Given the description of an element on the screen output the (x, y) to click on. 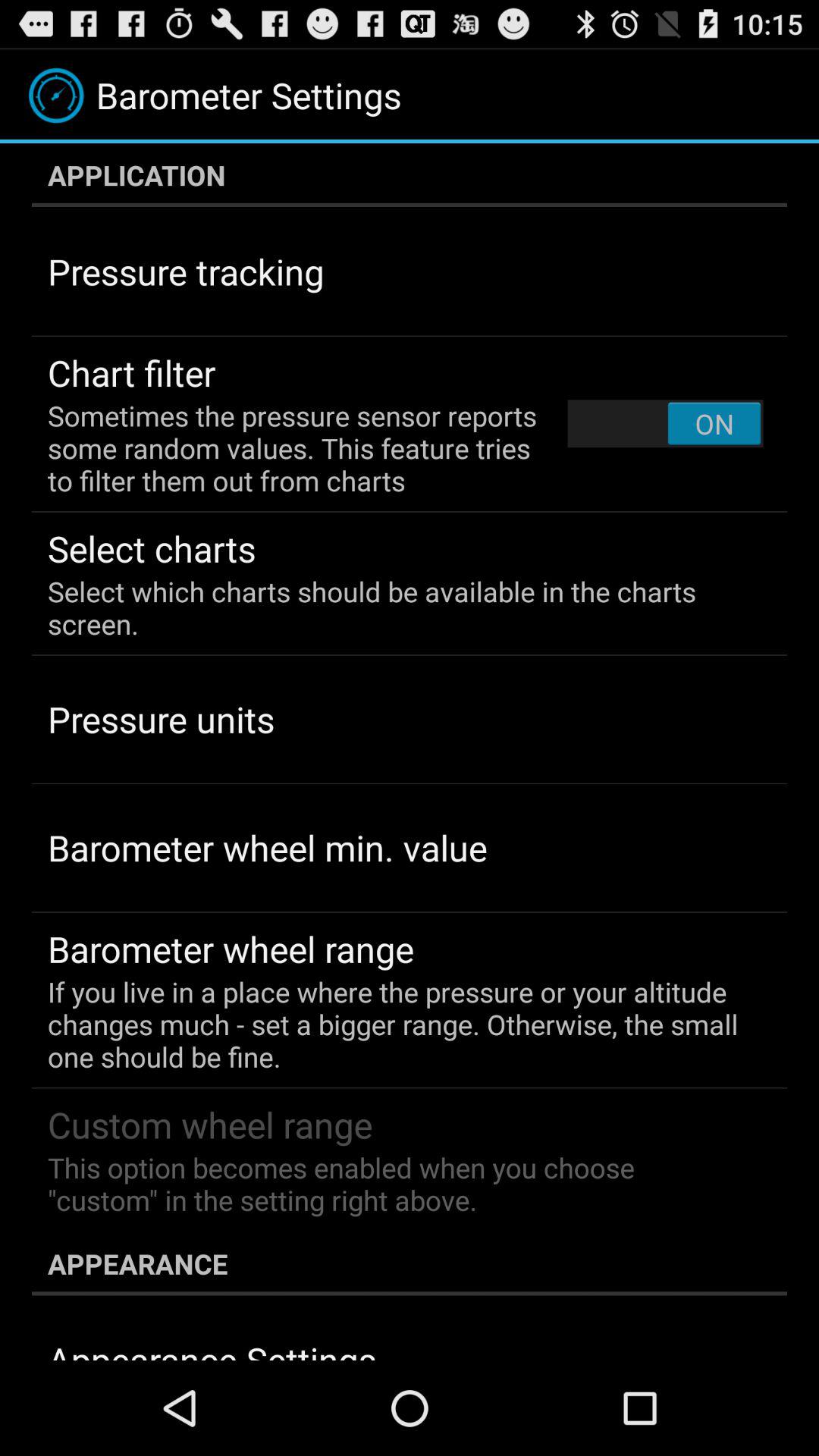
click the item at the top right corner (665, 423)
